Given the description of an element on the screen output the (x, y) to click on. 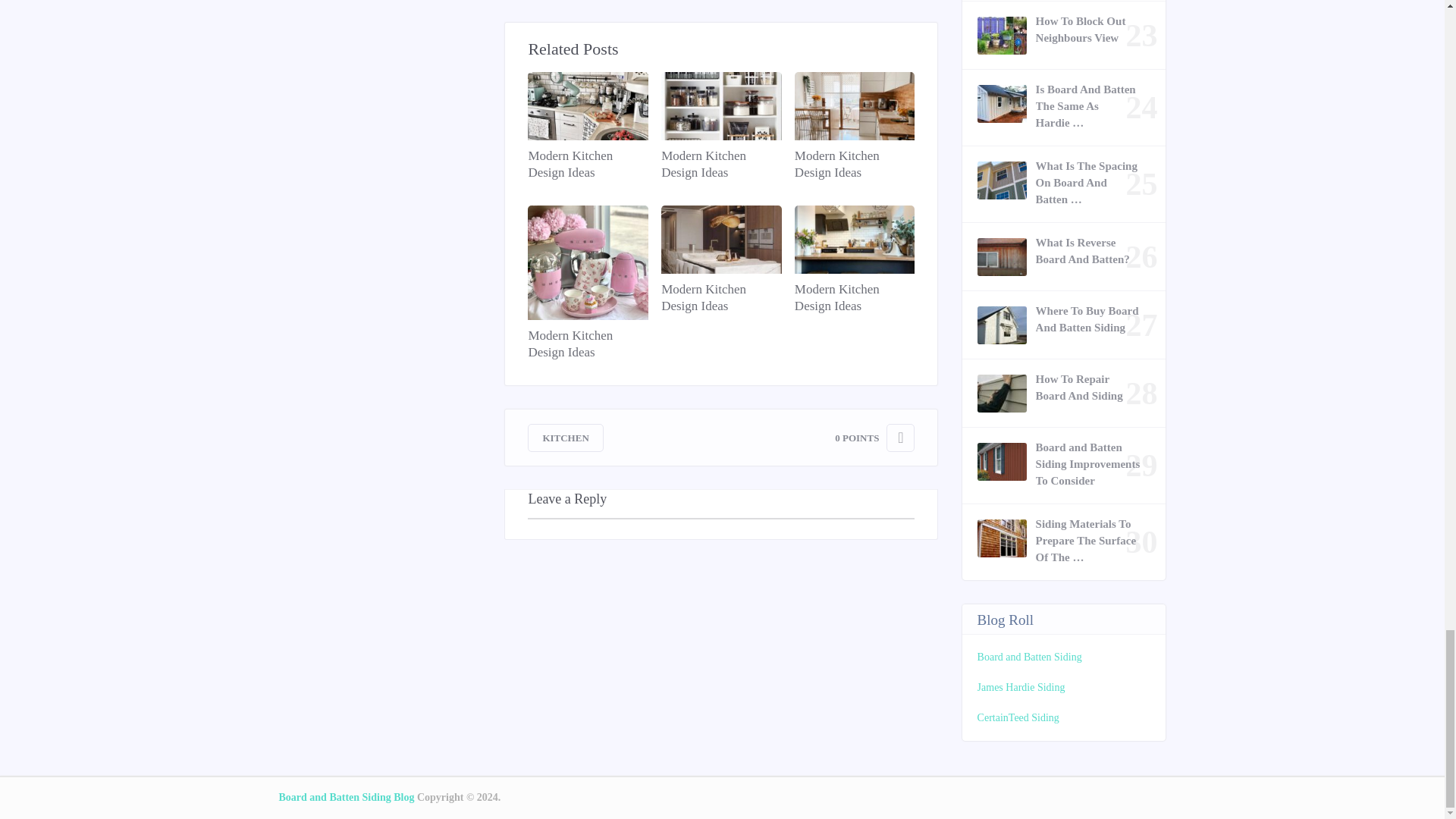
Modern Kitchen Design Ideas (720, 164)
Modern Kitchen Design Ideas (587, 164)
Modern Kitchen Design Ideas (854, 164)
Modern Kitchen Design Ideas (587, 344)
